Given the description of an element on the screen output the (x, y) to click on. 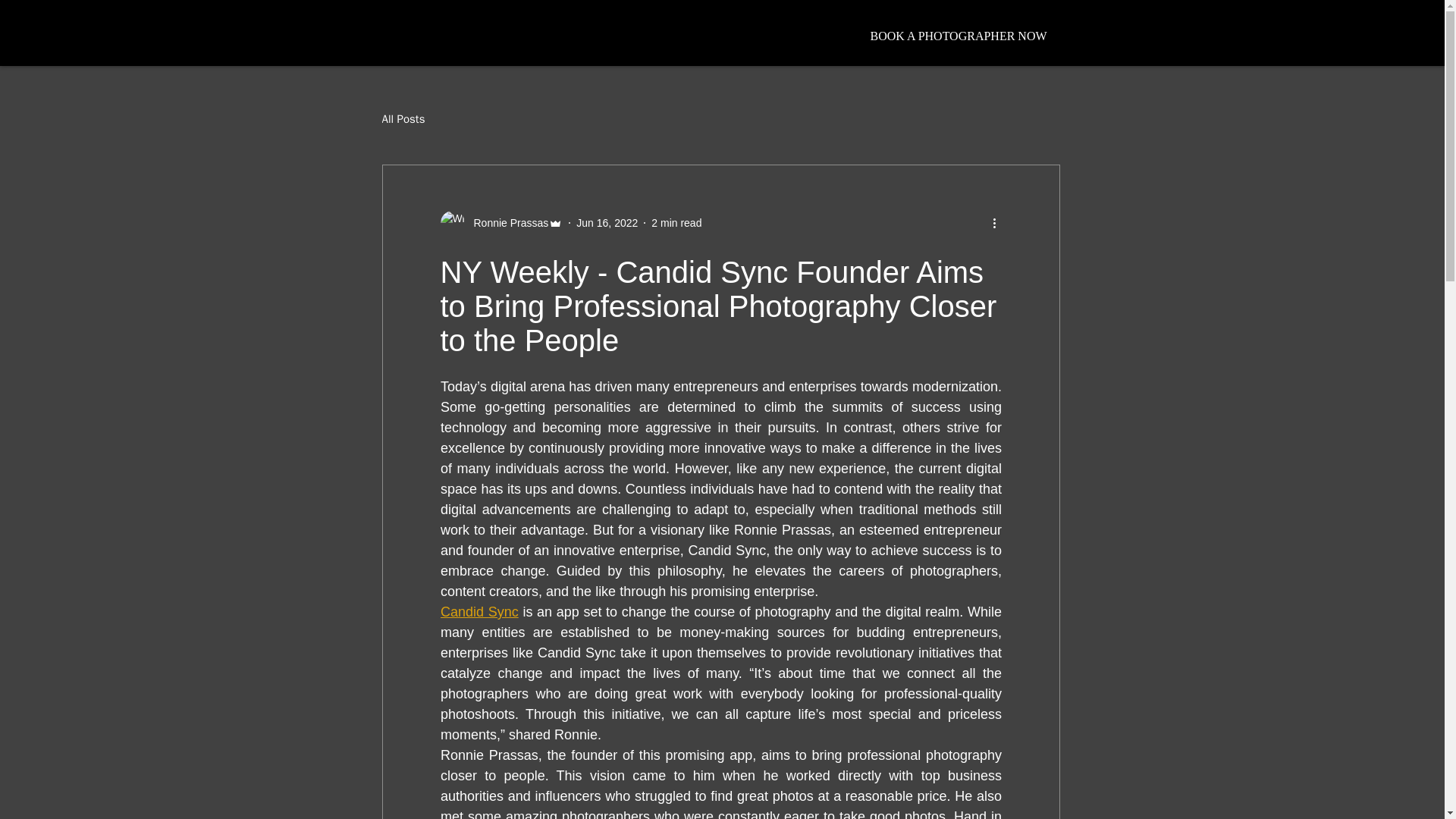
Jun 16, 2022 (606, 223)
All Posts (403, 119)
2 min read (675, 223)
Ronnie Prassas (500, 222)
Candid Sync (478, 611)
Ronnie  Prassas (506, 222)
